Given the description of an element on the screen output the (x, y) to click on. 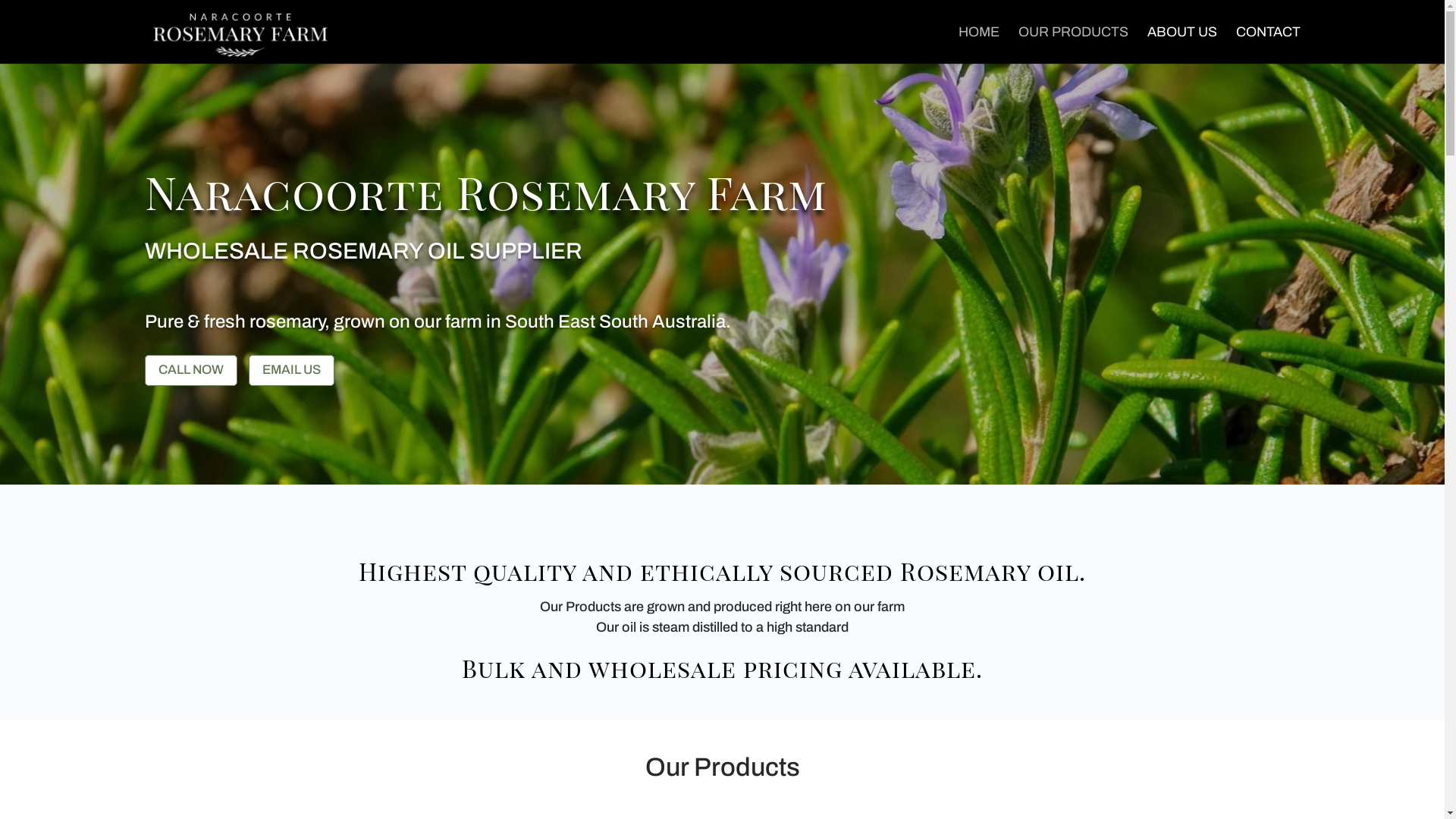
ABOUT US Element type: text (1181, 42)
CONTACT Element type: text (1268, 42)
CALL NOW Element type: text (190, 369)
HOME Element type: text (978, 42)
EMAIL US Element type: text (291, 369)
OUR PRODUCTS Element type: text (1072, 42)
